Given the description of an element on the screen output the (x, y) to click on. 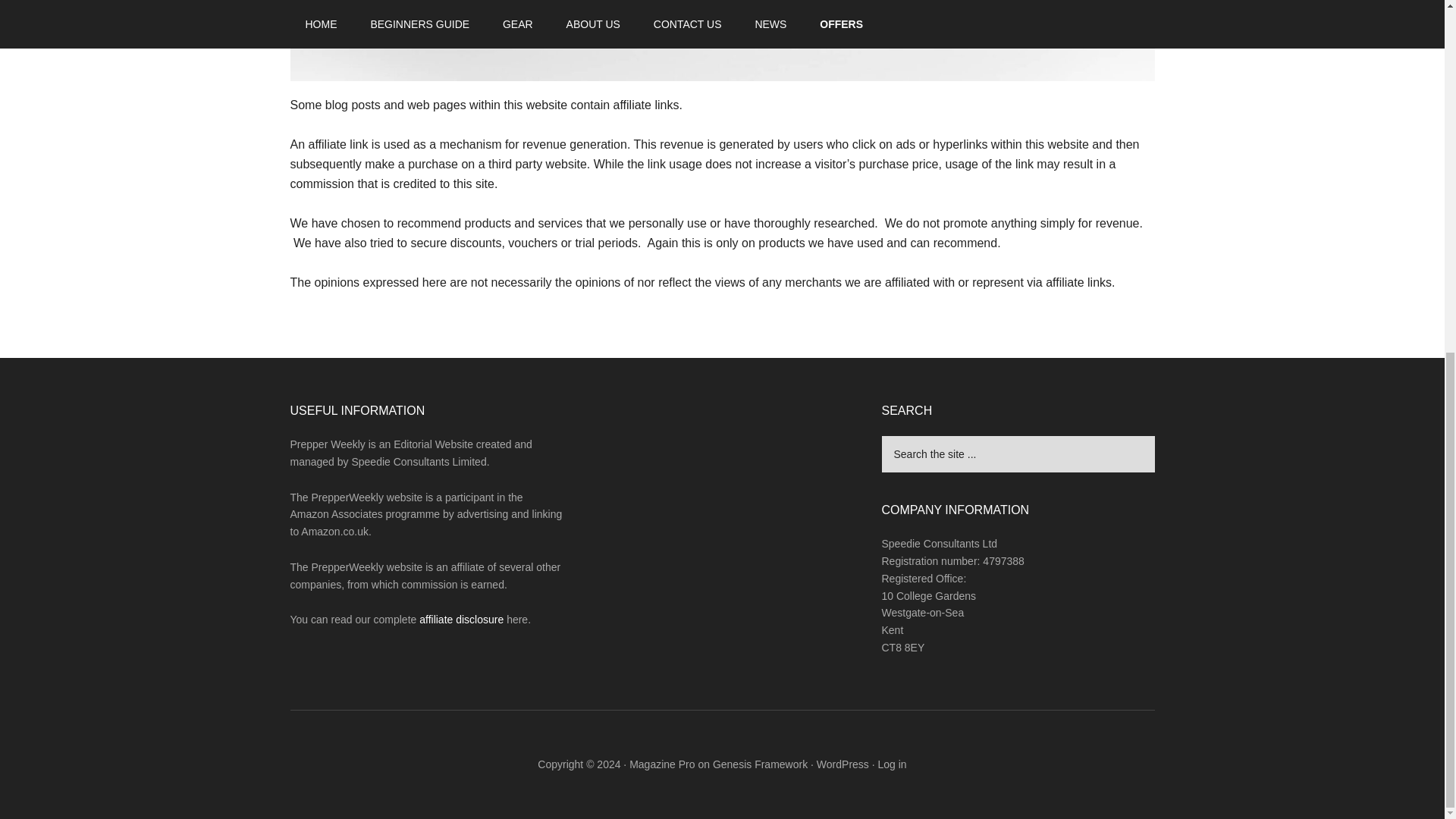
Magazine Pro (661, 764)
WordPress (842, 764)
Genesis Framework (760, 764)
Log in (892, 764)
affiliate disclosure (461, 619)
